Given the description of an element on the screen output the (x, y) to click on. 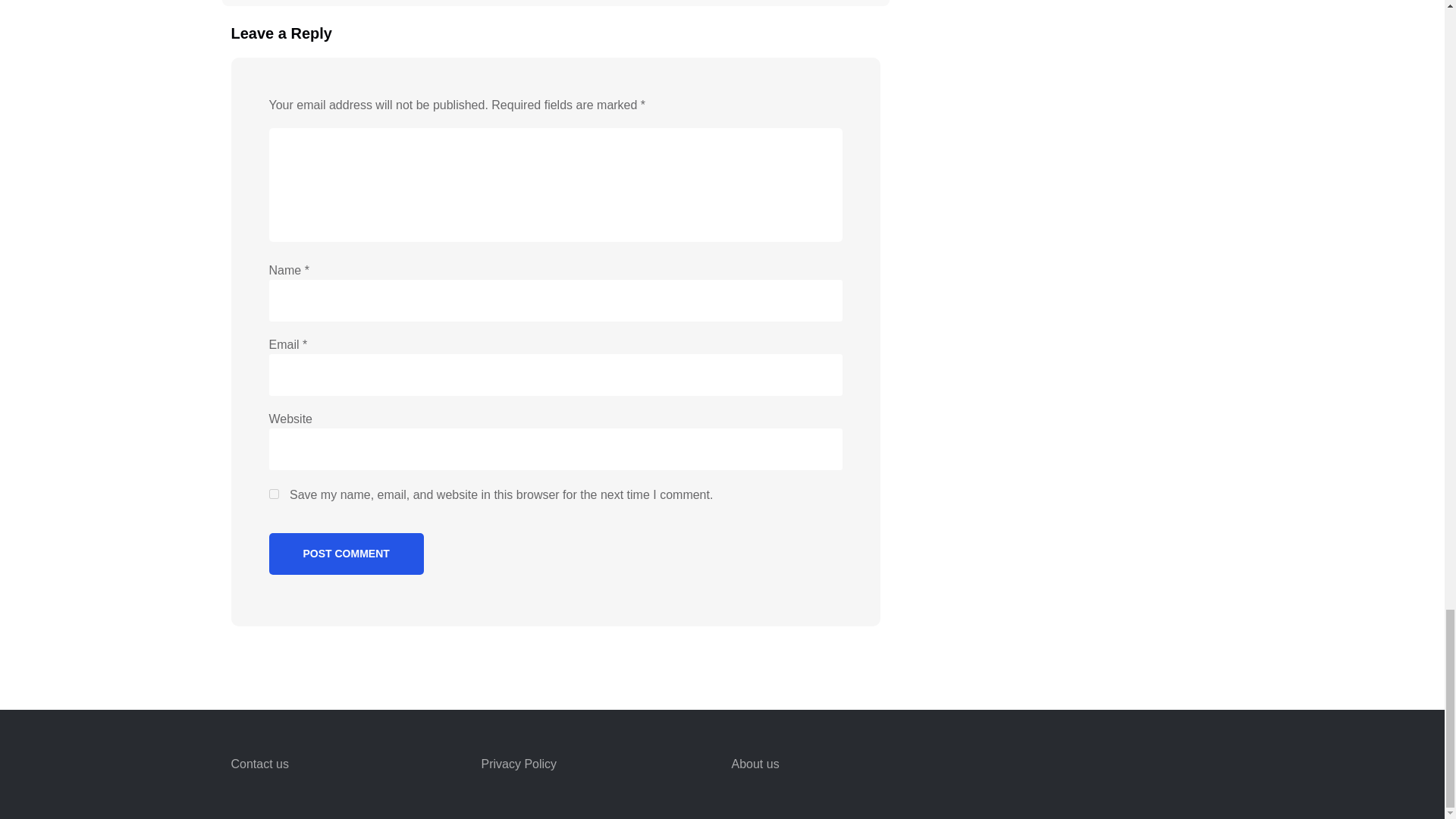
About us (754, 764)
Contact us (259, 764)
About us (754, 764)
Post Comment (345, 553)
Contact us (259, 764)
yes (272, 493)
Privacy Policy (518, 764)
Post Comment (345, 553)
Privacy Policy (518, 764)
